Given the description of an element on the screen output the (x, y) to click on. 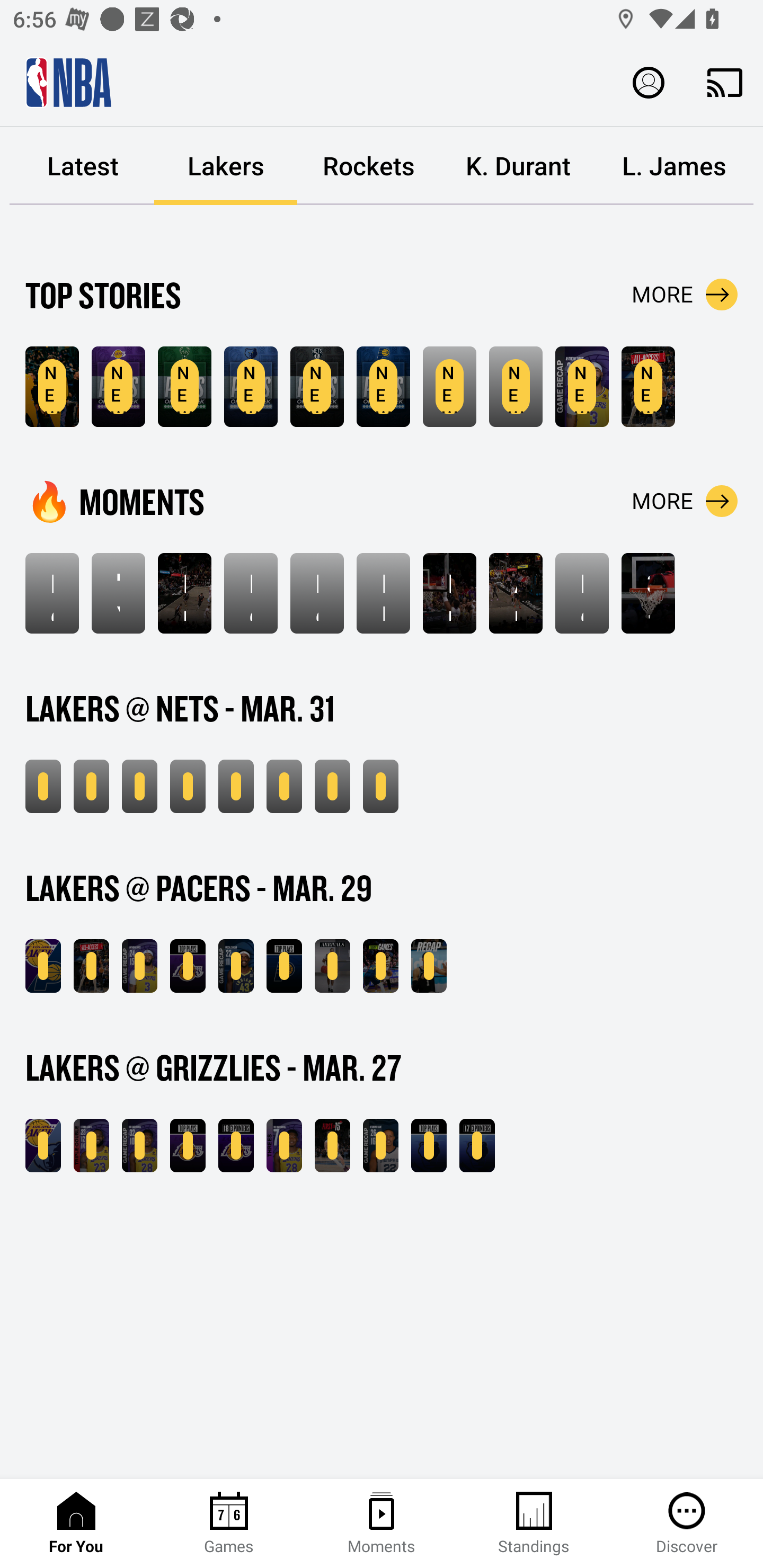
Cast. Disconnected (724, 82)
Profile (648, 81)
Latest (82, 166)
Rockets (368, 166)
K. Durant (518, 166)
L. James (673, 166)
MORE (684, 294)
NEW Hillbilly Bogey: Austin Reaves On Golf Dreams (51, 386)
NEW LAL's Top Plays of Week 23 (117, 386)
NEW MIL's Top Plays of Week 23 (184, 386)
NEW MEM's Top Plays of Week 23 (250, 386)
NEW BKN's Top Plays of Week 23 (317, 386)
IND's Top Plays of Week 23 NEW (383, 386)
Cam Thomas vs. LeBron James Battle NEW (449, 386)
Lakers Visit Nets In Brooklyn 🌉 NEW (515, 386)
Highlights From Anthony Davis's 24-Point Game NEW (581, 386)
Lakers, Pacers Battle In Indy NEW (648, 386)
MORE (684, 500)
LeBron's 40-Point Explosion In 40 Seconds (51, 593)
"Yeah, LeBron James!" 🗣️😂 (117, 593)
Rui Hachimura with the assist (184, 593)
LeBron James gets the 3 to fall (250, 593)
LeBron James with the 3-pointer (317, 593)
LBJ Hits The WILD 3 While Fading 👑 (383, 593)
Rui Hachimura rises to finish the alley-oop (449, 593)
Anthony Davis denies the attempt (515, 593)
LeBron James with the slam (581, 593)
3-pointer by D'Angelo Russell (648, 593)
NEW Lakers Visit Nets In Brooklyn 🌉 (43, 785)
NEW LAL @ BKN HIGHLIGHTS (91, 785)
NEW Highlights From LeBron James' 9-3-pointer Game (139, 785)
NEW LAL's Top Plays from LAL vs. BKN (187, 785)
NEW Cam Thomas vs. LeBron James Battle (236, 785)
Highlights From Cam Thomas' 30-Point Game NEW (284, 785)
BKN's Top Plays from LAL vs. BKN NEW (332, 785)
Sunday's Recap NEW (380, 785)
NEW LAL @ IND HIGHLIGHTS (43, 965)
NEW Lakers, Pacers Battle In Indy (91, 965)
NEW Highlights From Anthony Davis's 24-Point Game (139, 965)
NEW LAL's Top Plays from LAL vs. IND (187, 965)
NEW Highlights From Pascal Siakam's 22-Point Game (236, 965)
IND's Top Plays from LAL vs. IND NEW (284, 965)
Friday Night Fashion 😎 NEW (332, 965)
Lakers-Pacers On NBA TV 📺 NEW (380, 965)
Friday's Recap NEW (428, 965)
NEW LAL @ MEM HIGHLIGHTS (43, 1145)
NEW Highlights from LeBron James' Triple-Double (91, 1145)
NEW Highlights From Rui Hachimura's 32-Point Game (139, 1145)
NEW LAL's Top Plays from LAL vs. MEM (187, 1145)
NEW All 3's from LAL's 18 3-Pointer Night (236, 1145)
First to 15 Mar. 27th NEW (332, 1145)
Highlights From Desmond Bane's 26-Point Game NEW (380, 1145)
MEM's Top Plays from LAL vs. MEM NEW (428, 1145)
All 3's from MEM's 17 3-Pointer Night NEW (477, 1145)
Games (228, 1523)
Moments (381, 1523)
Standings (533, 1523)
Discover (686, 1523)
